Given the description of an element on the screen output the (x, y) to click on. 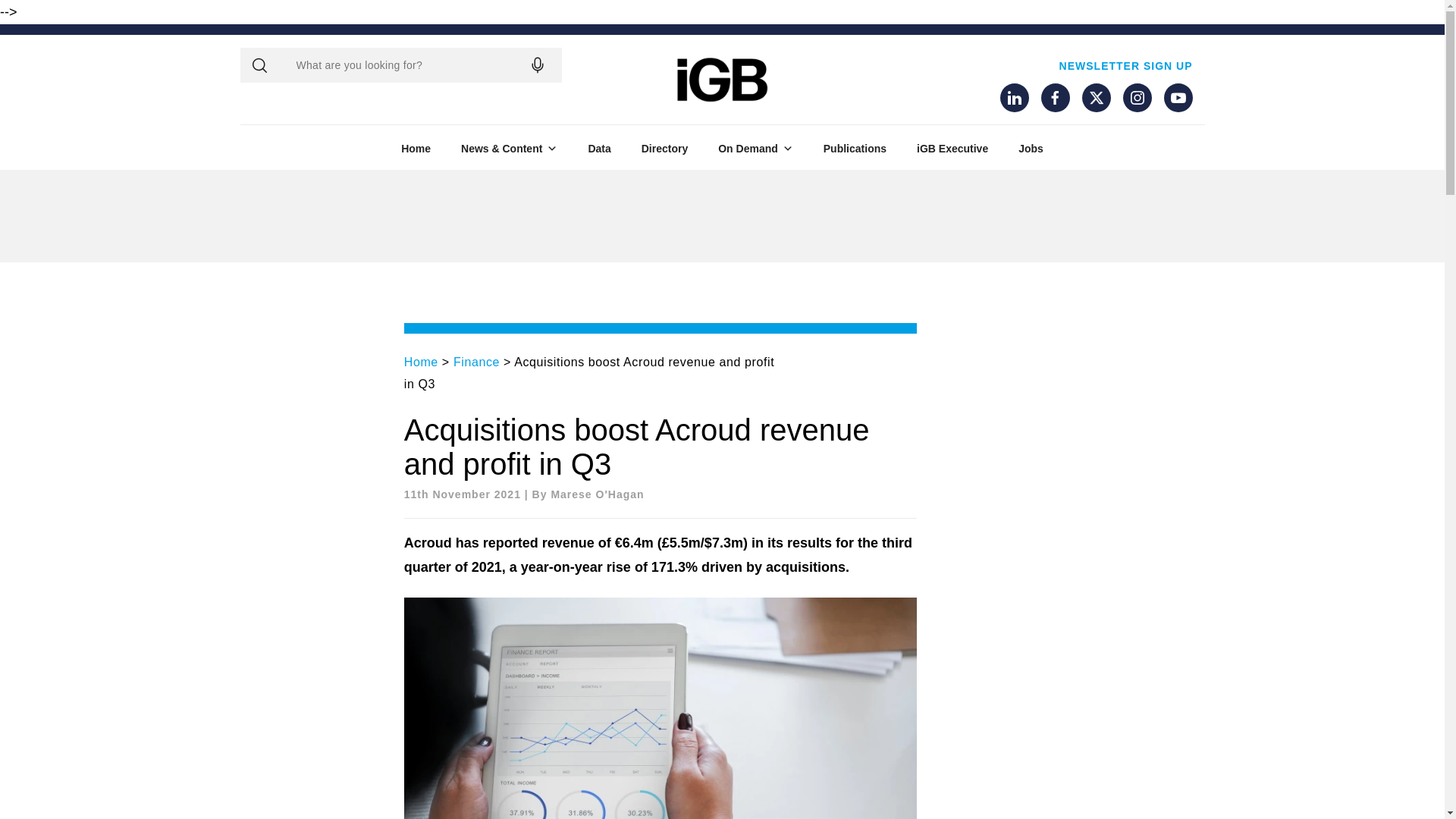
Facebook (1054, 97)
NEWSLETTER SIGN UP (1125, 65)
Twitter (1095, 97)
LinkedIn (1012, 97)
Instagram (1136, 97)
Home (415, 148)
YouTube (1177, 97)
